Given the description of an element on the screen output the (x, y) to click on. 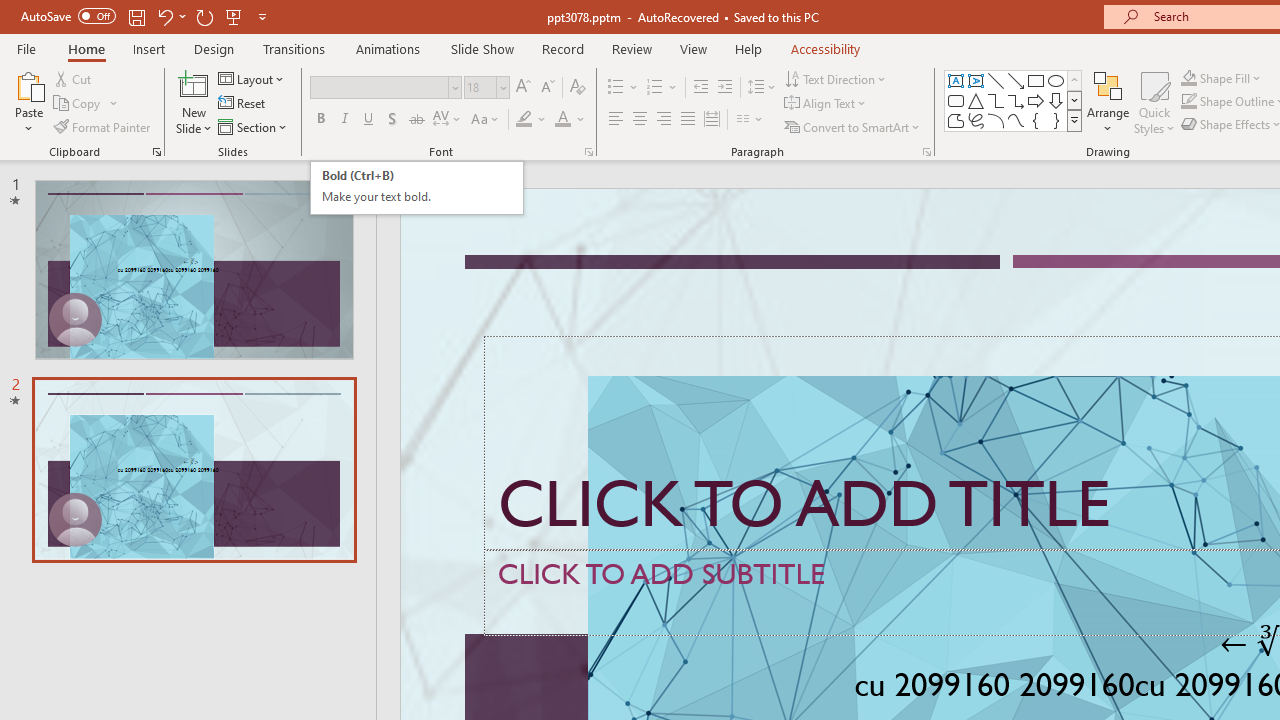
Help (748, 48)
Vertical Text Box (975, 80)
Connector: Elbow (995, 100)
Quick Access Toolbar (145, 16)
Increase Font Size (522, 87)
Arrow: Right (1035, 100)
Copy (85, 103)
Text Box (955, 80)
Font Size (480, 87)
Shapes (1074, 120)
Reset (243, 103)
Font Size (486, 87)
Shadow (392, 119)
Numbering (654, 87)
